Given the description of an element on the screen output the (x, y) to click on. 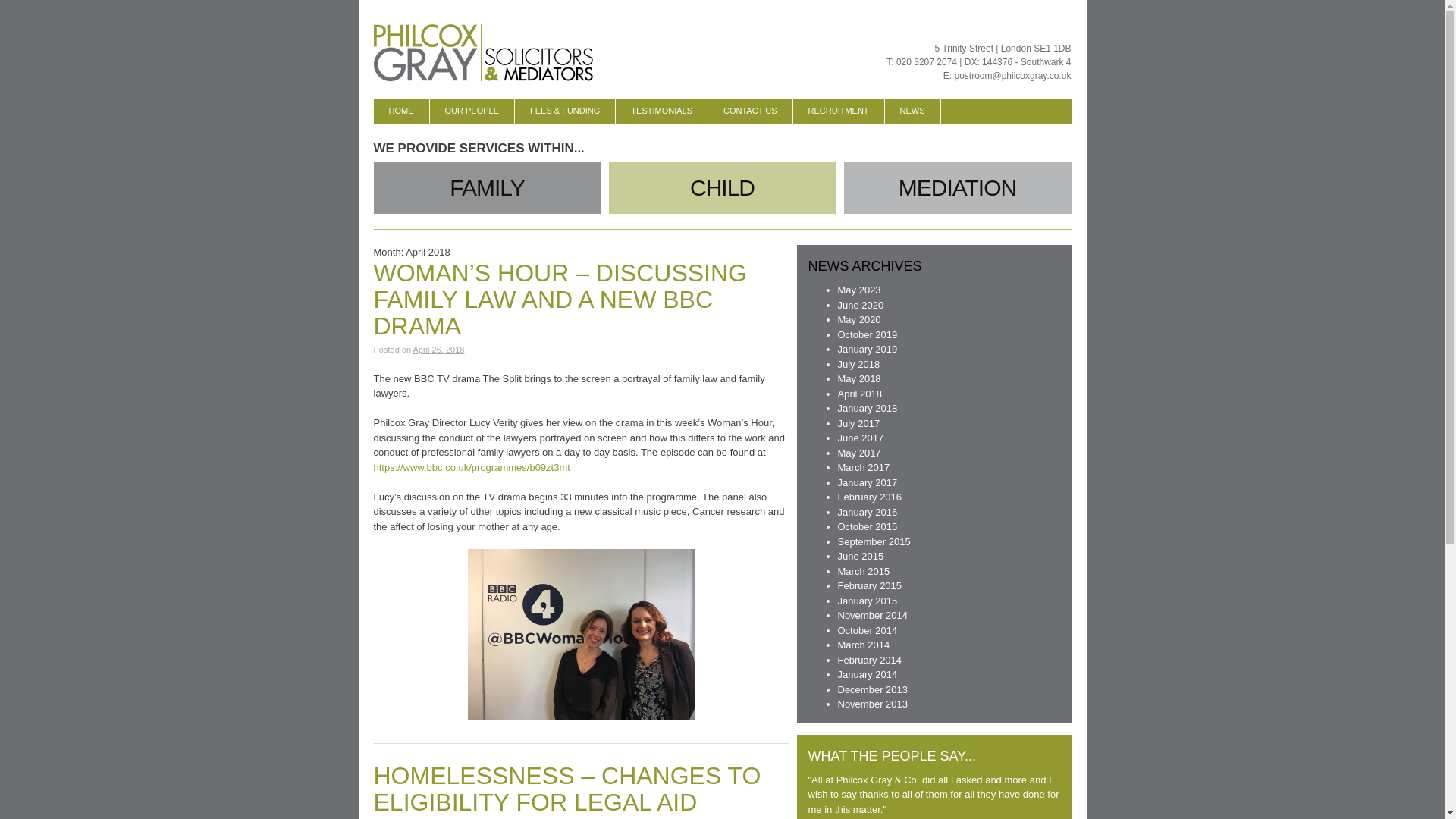
HOME (400, 110)
March 2017 (863, 467)
January 2018 (866, 408)
September 2015 (873, 541)
Philcox Gray (484, 52)
April 2018 (859, 393)
June 2017 (860, 437)
RECRUITMENT (839, 110)
CHILD (721, 187)
May 2020 (858, 319)
January 2017 (866, 481)
April 26, 2018 (438, 348)
TESTIMONIALS (661, 110)
10:45 am (438, 348)
January 2019 (866, 348)
